Given the description of an element on the screen output the (x, y) to click on. 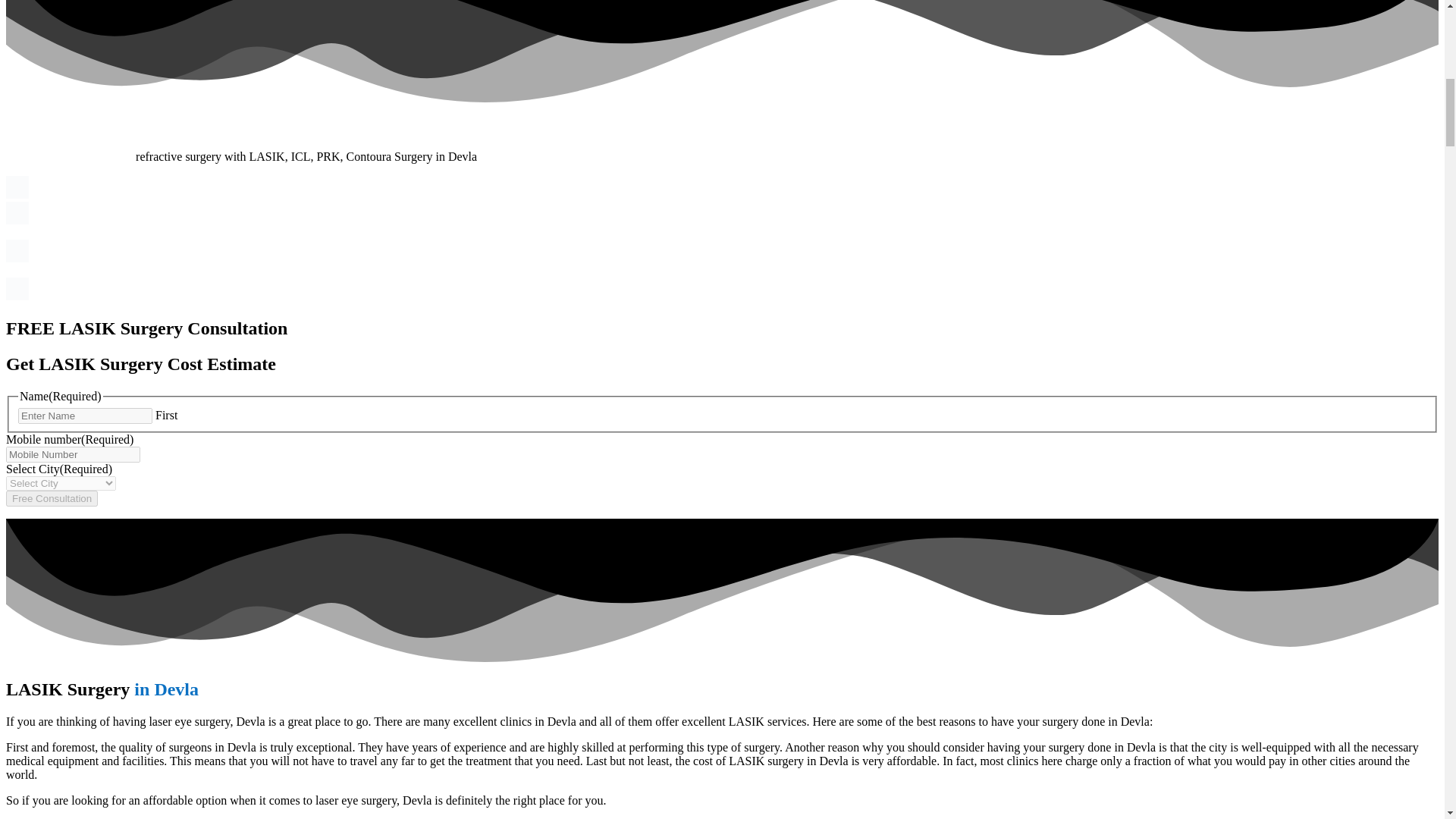
Free Consultation (51, 498)
